Given the description of an element on the screen output the (x, y) to click on. 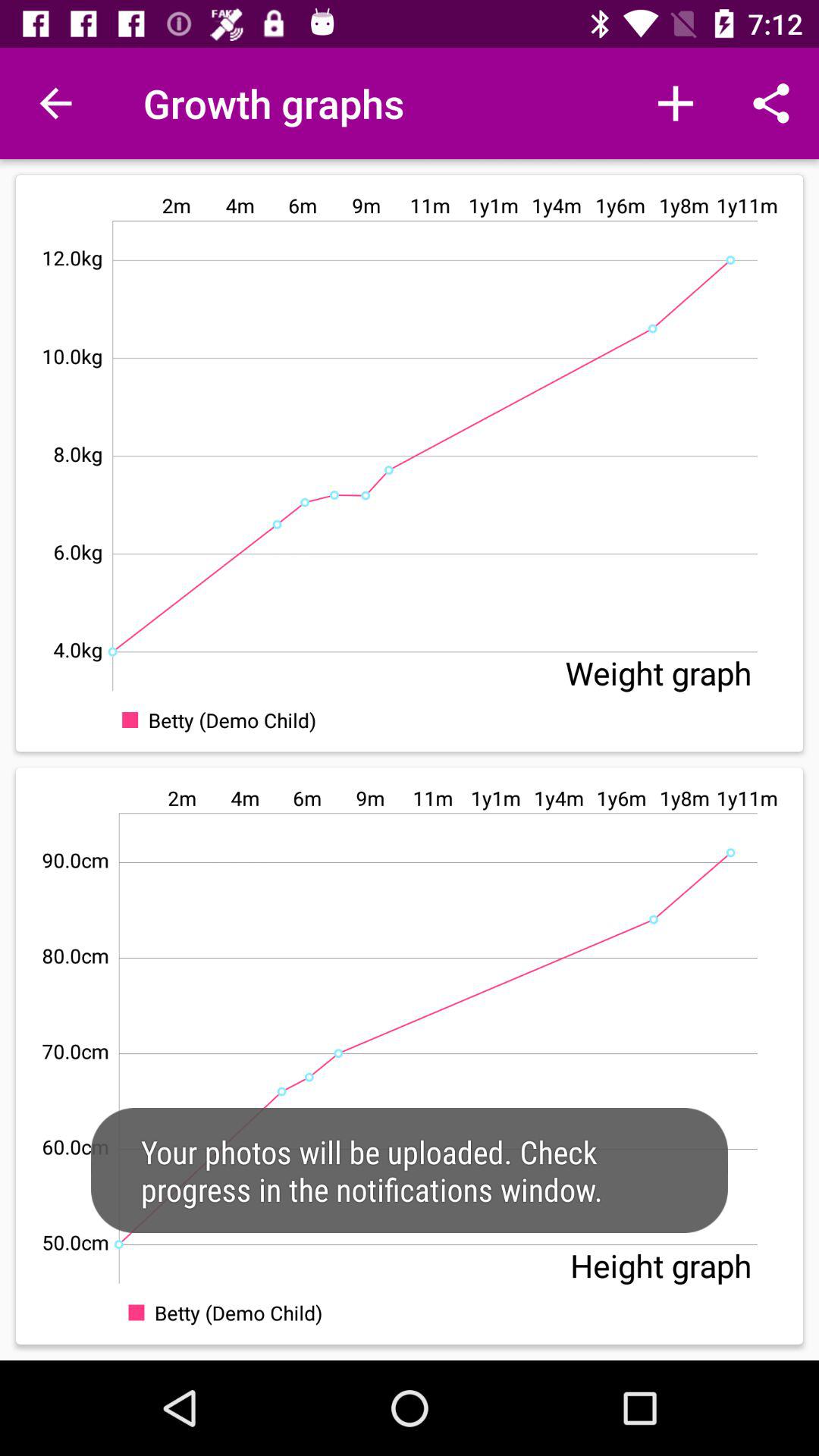
tap the item at the top left corner (55, 103)
